Given the description of an element on the screen output the (x, y) to click on. 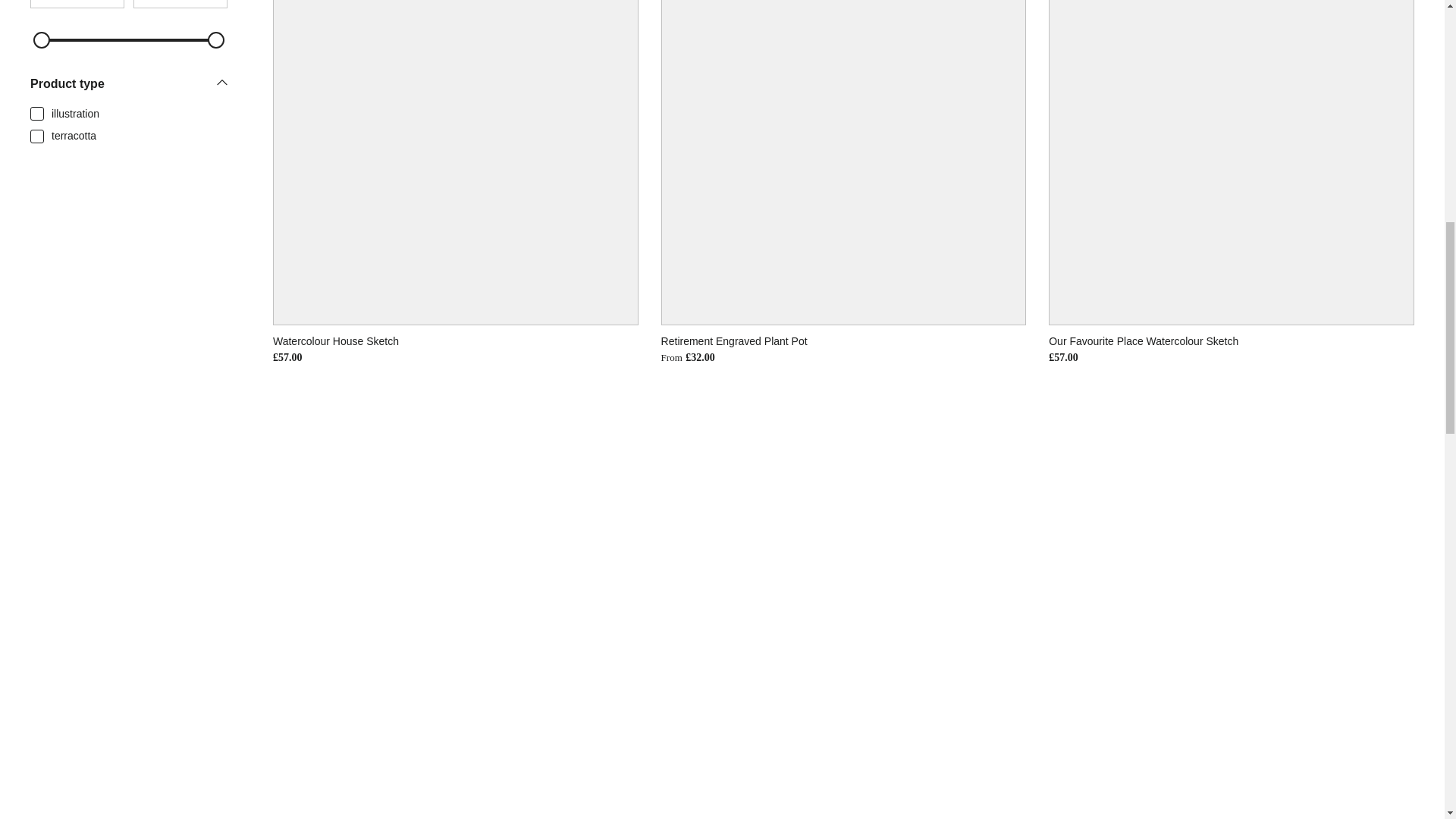
Down (221, 81)
